Given the description of an element on the screen output the (x, y) to click on. 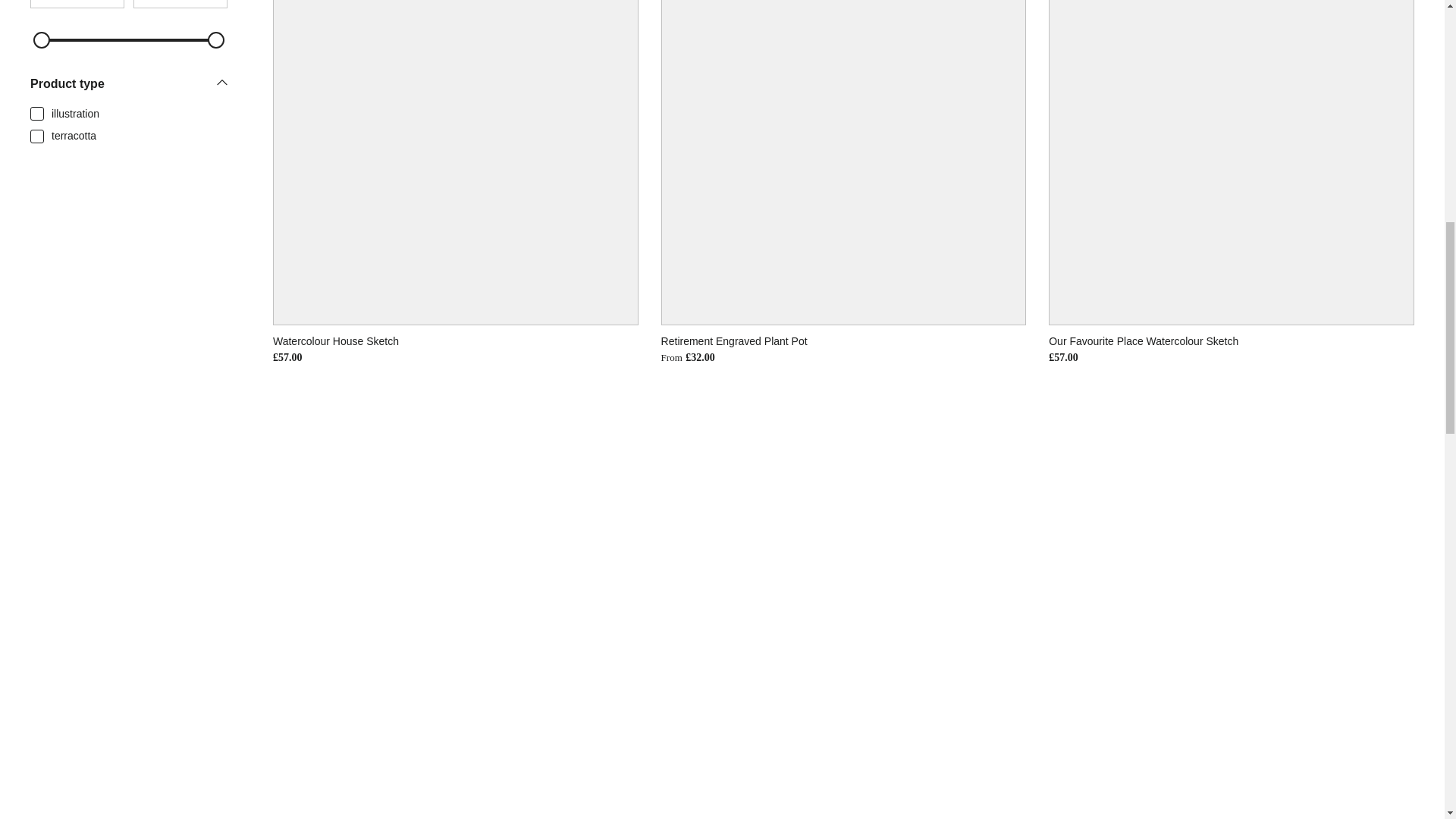
Down (221, 81)
